Given the description of an element on the screen output the (x, y) to click on. 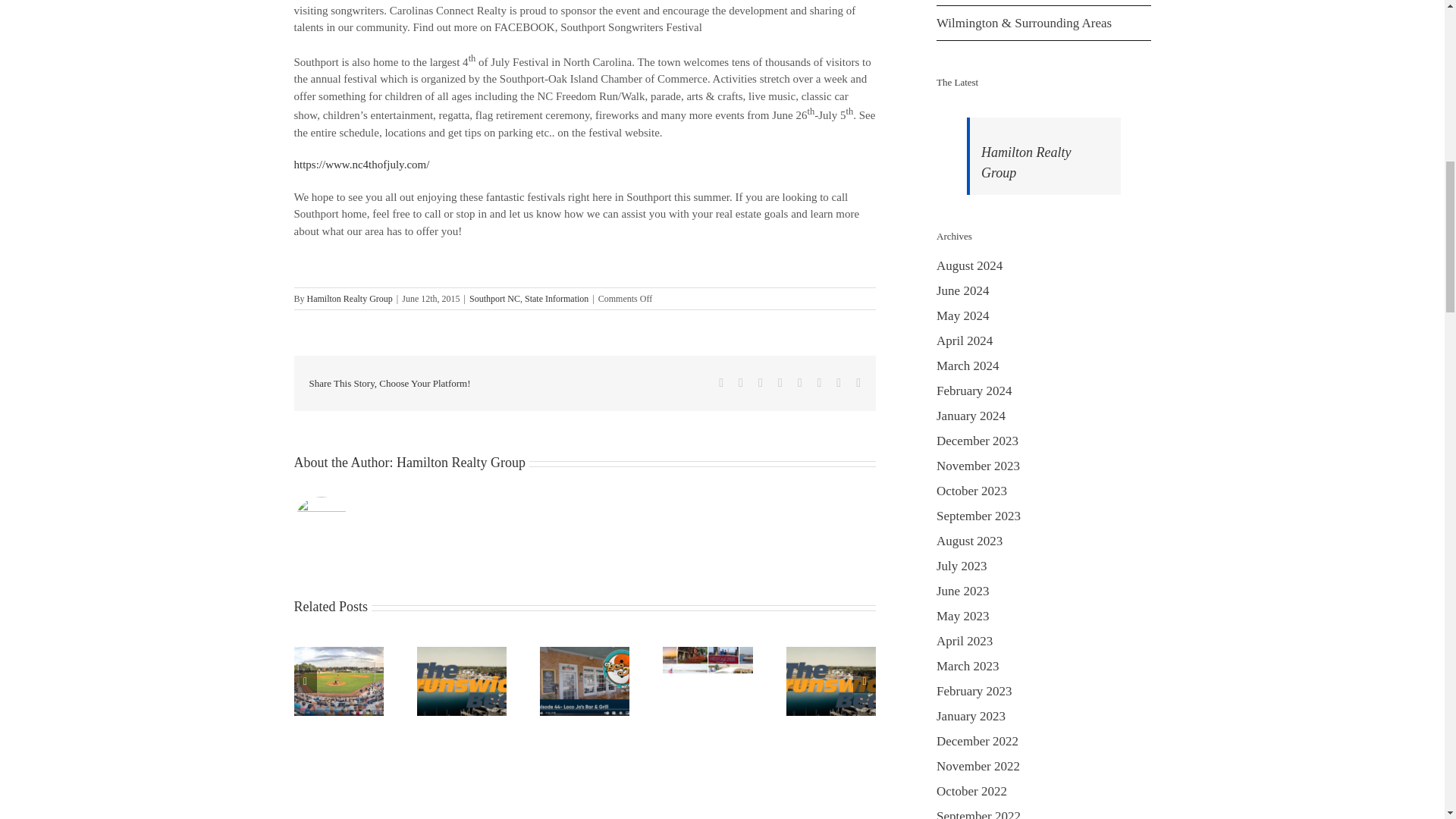
Posts by Hamilton Realty Group (460, 462)
State Information (556, 298)
Posts by Hamilton Realty Group (350, 298)
Southport NC (493, 298)
Hamilton Realty Group (350, 298)
